Given the description of an element on the screen output the (x, y) to click on. 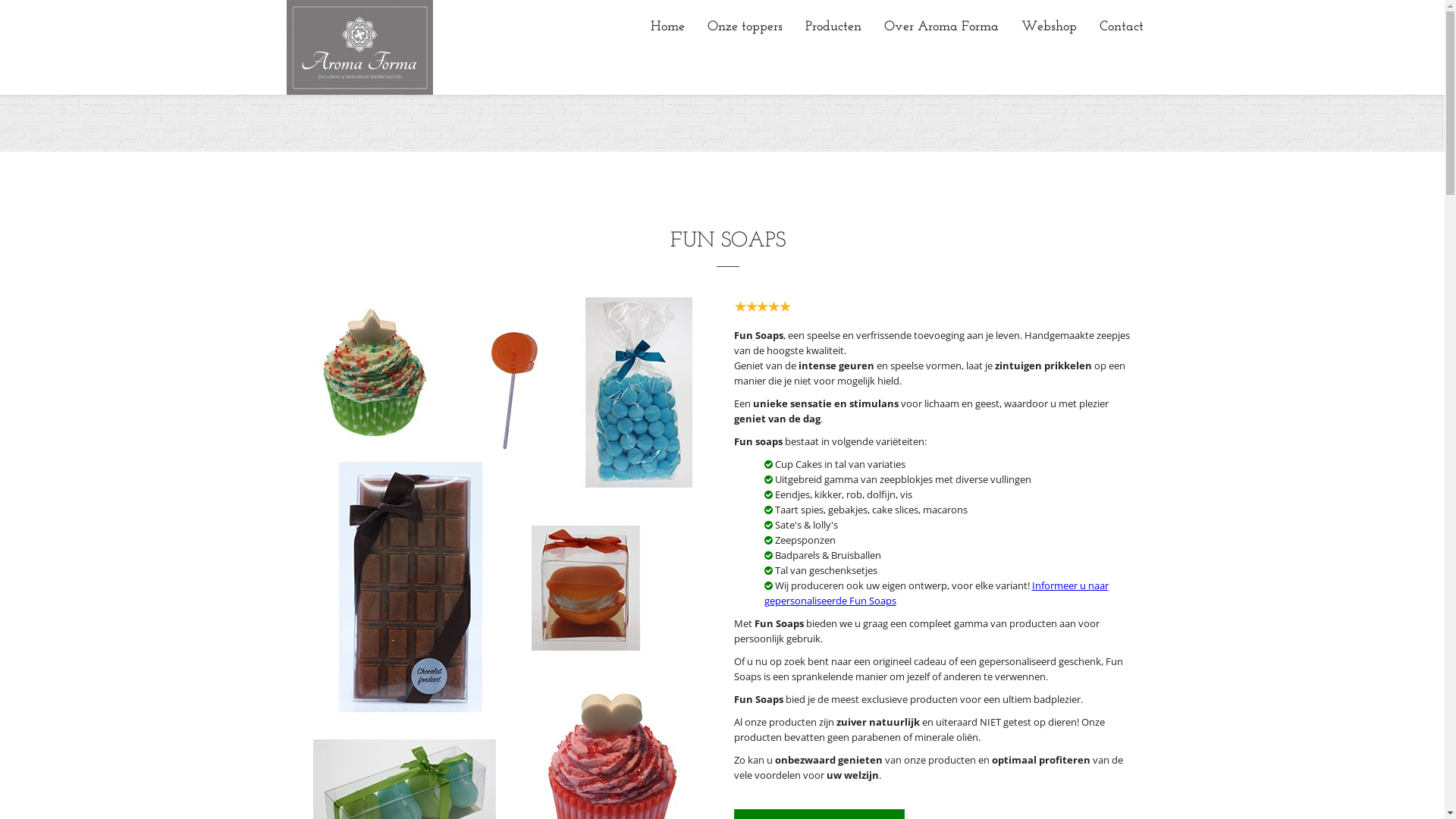
Informeer u naar gepersonaliseerde Fun Soaps Element type: text (936, 592)
Over Aroma Forma Element type: text (940, 26)
Home Element type: text (666, 26)
Contact Element type: text (1120, 26)
Webshop Element type: text (1049, 26)
Onze toppers Element type: text (744, 26)
Producten Element type: text (832, 26)
